Given the description of an element on the screen output the (x, y) to click on. 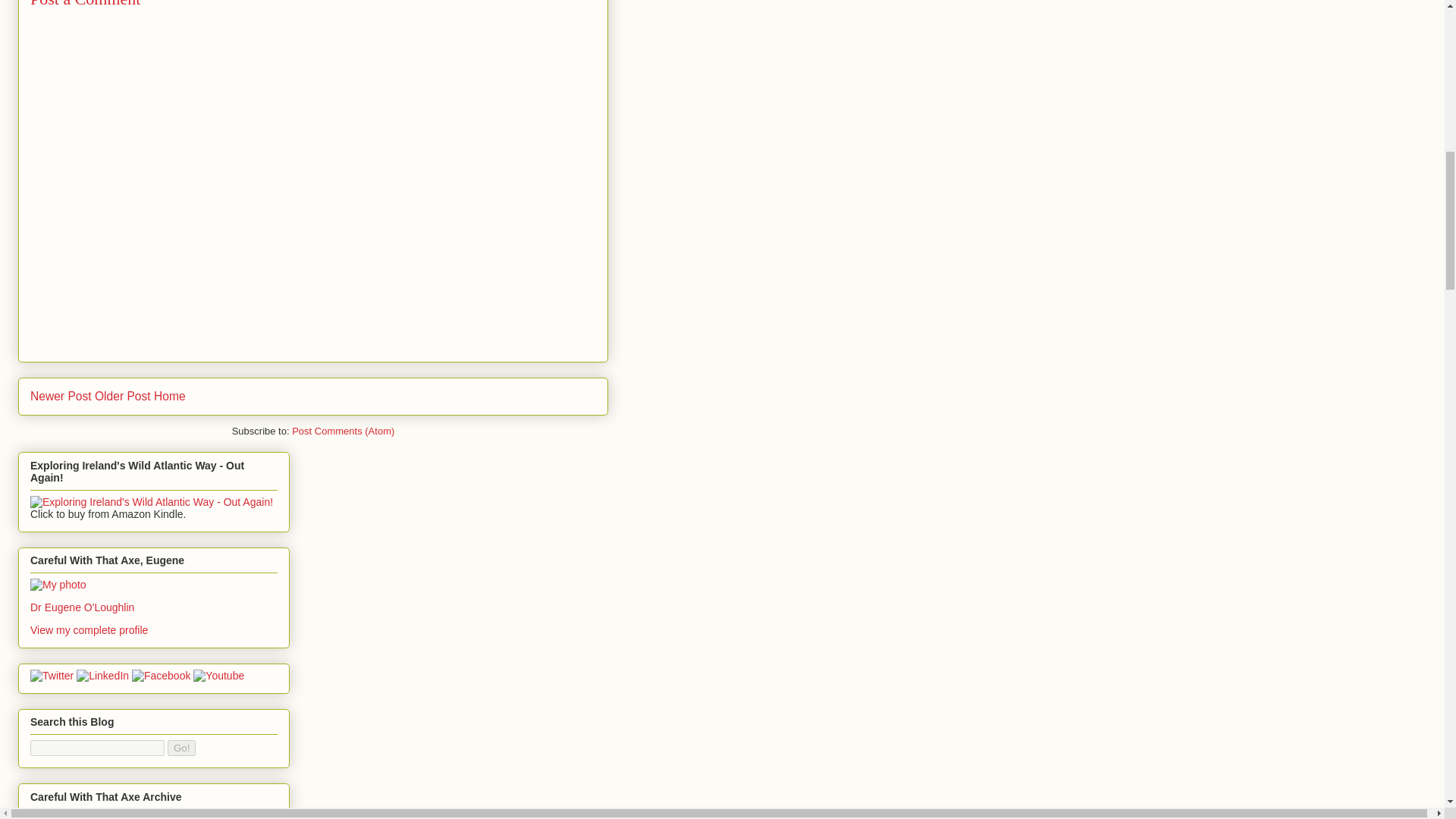
Newer Post (60, 395)
Go! (181, 747)
Go! (181, 747)
Older Post (122, 395)
Newer Post (60, 395)
Home (170, 395)
2024 (60, 815)
Dr Eugene O'Loughlin (81, 607)
Older Post (122, 395)
View my complete profile (89, 630)
